Given the description of an element on the screen output the (x, y) to click on. 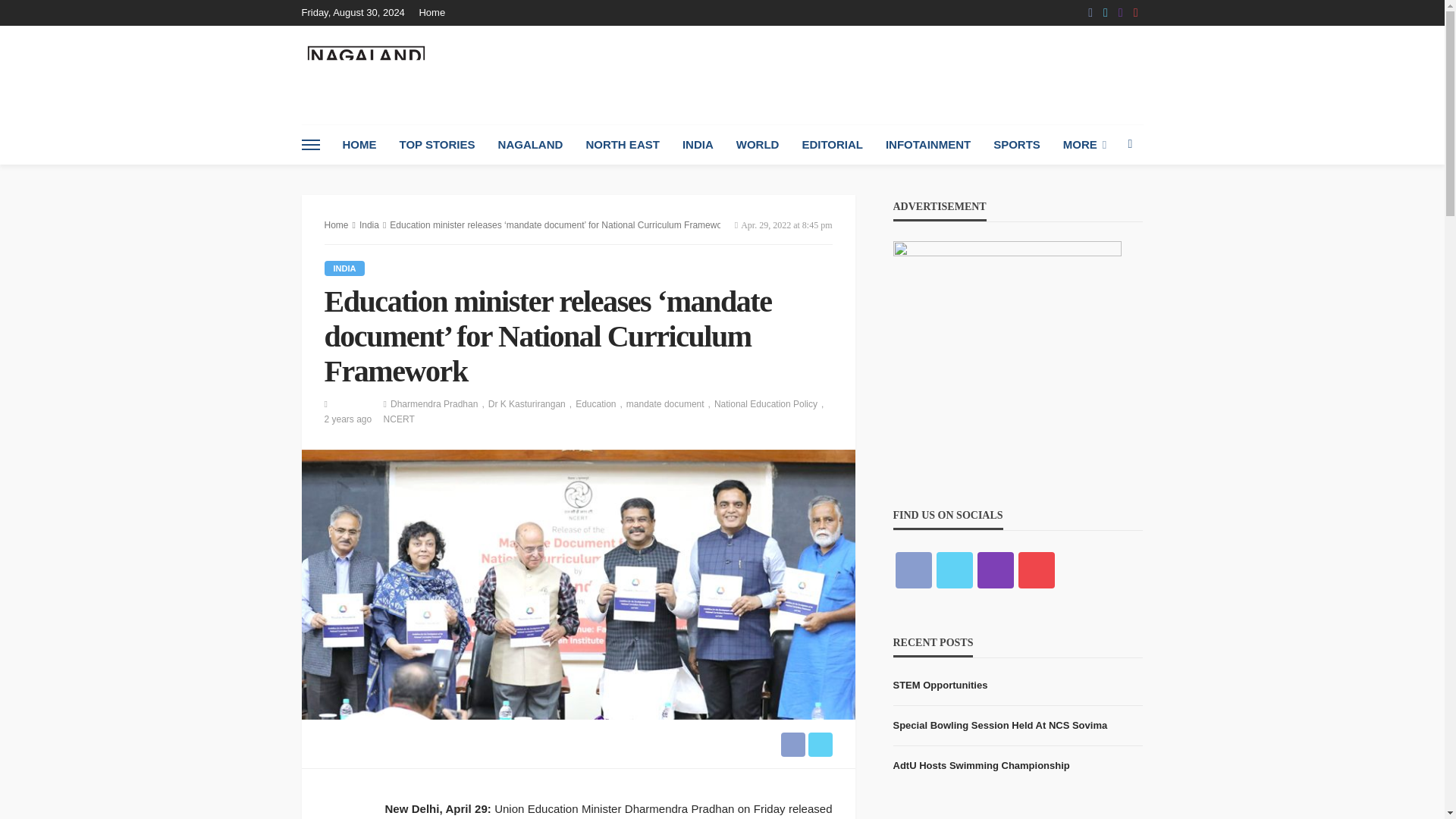
HOME (358, 144)
WORLD (757, 144)
MORE (1084, 144)
SPORTS (1016, 144)
TOP STORIES (437, 144)
Home (435, 12)
EDITORIAL (832, 144)
INFOTAINMENT (928, 144)
nagaland-page-logo (365, 74)
NORTH EAST (622, 144)
